Given the description of an element on the screen output the (x, y) to click on. 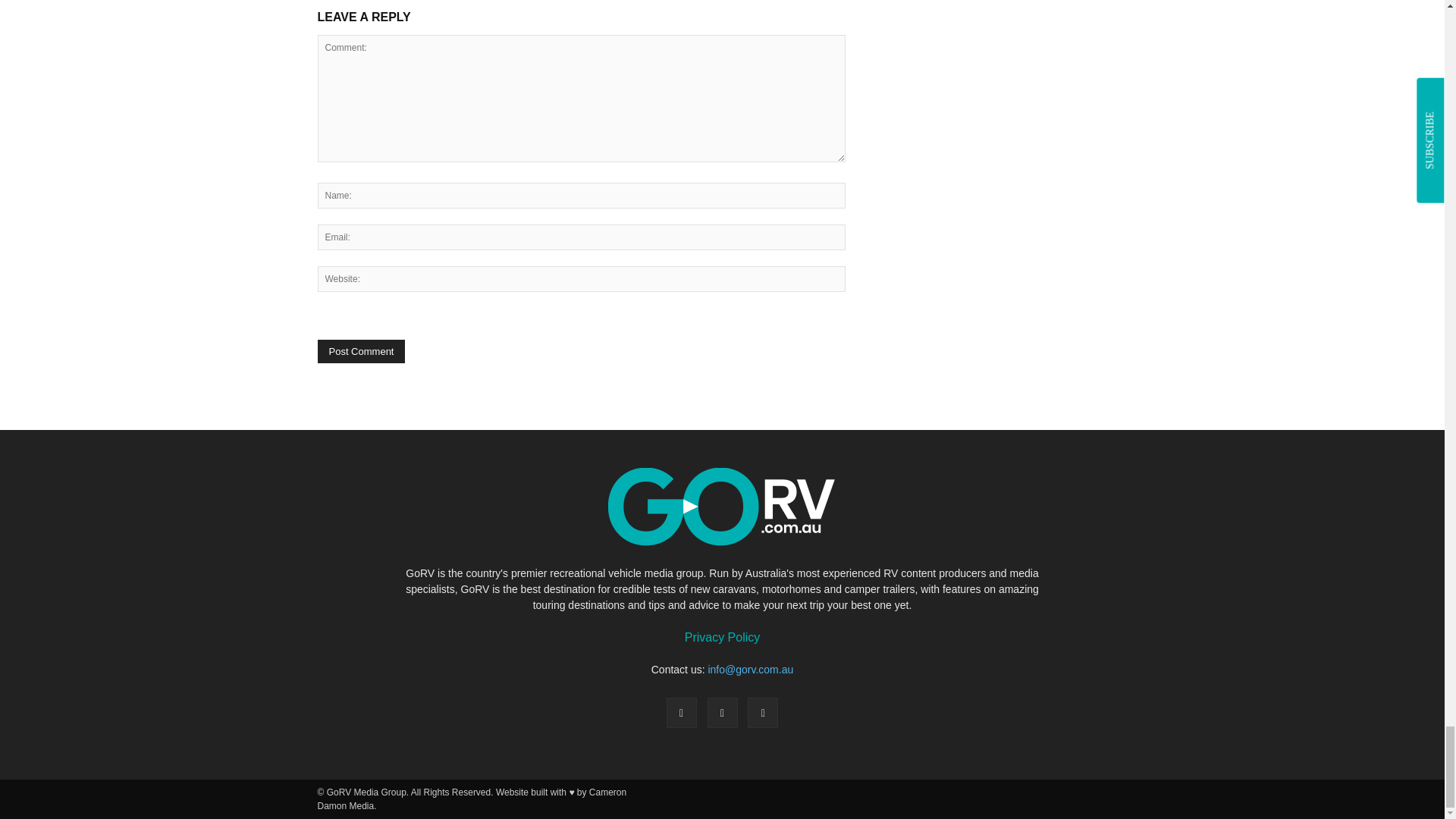
Post Comment (360, 351)
